Given the description of an element on the screen output the (x, y) to click on. 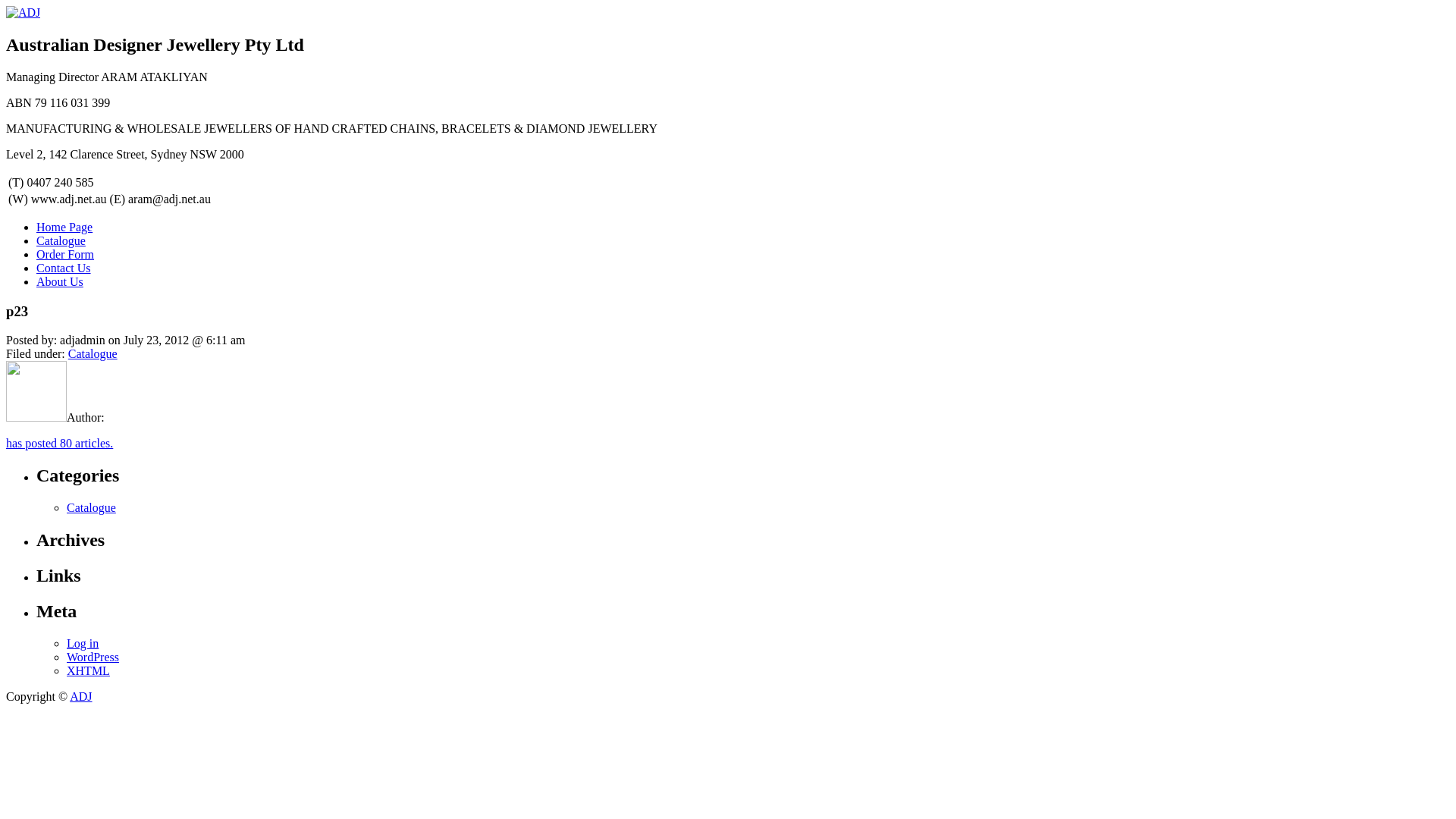
Log in Element type: text (82, 643)
ADJ Element type: text (80, 696)
Catalogue Element type: text (91, 507)
XHTML Element type: text (87, 670)
Home Page Element type: text (64, 226)
Order Form Element type: text (65, 253)
About Us Element type: text (59, 281)
WordPress Element type: text (92, 656)
Contact Us Element type: text (63, 267)
has posted 80 articles. Element type: text (59, 442)
Catalogue Element type: text (60, 240)
Catalogue Element type: text (92, 353)
